Given the description of an element on the screen output the (x, y) to click on. 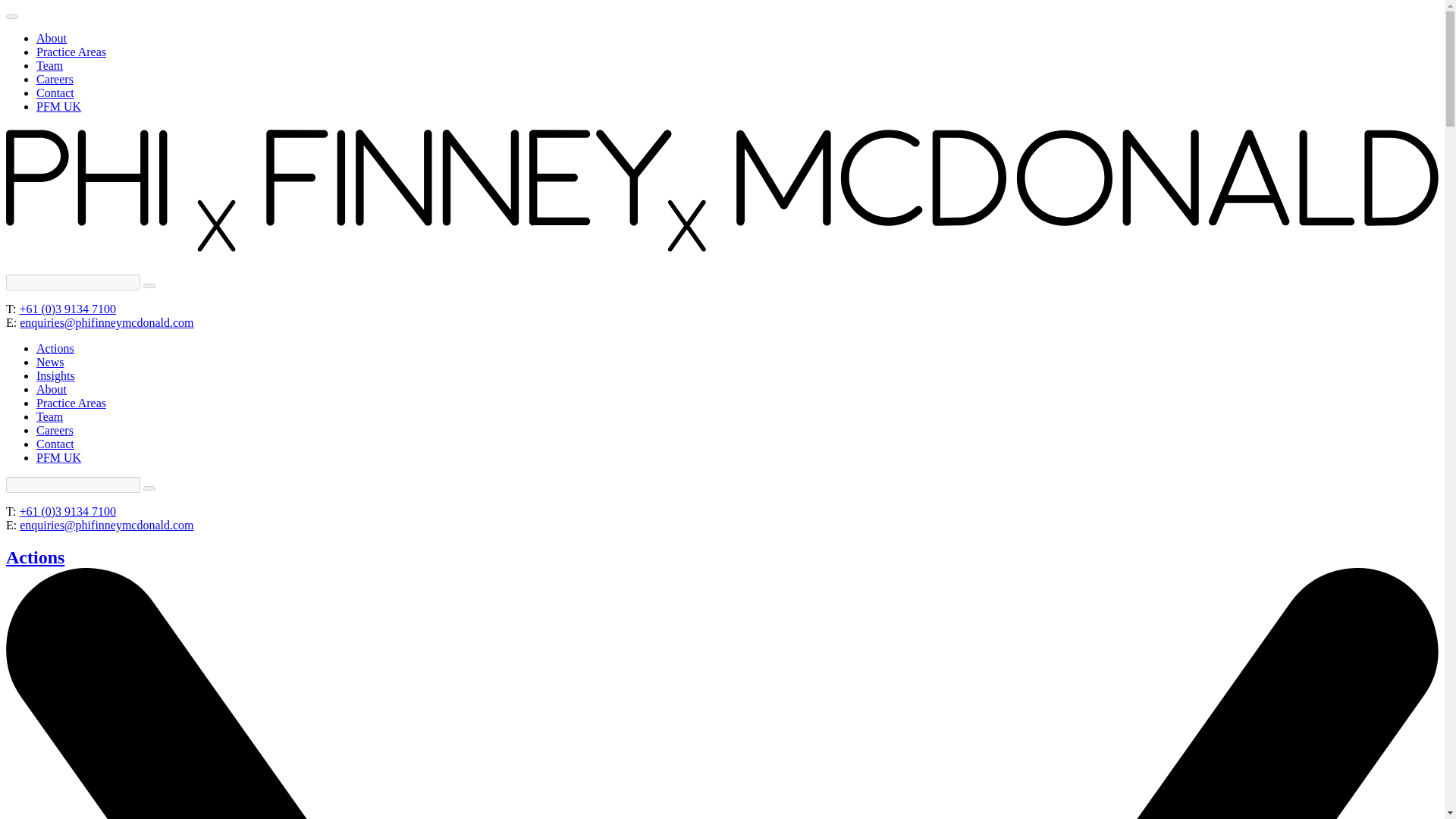
About (51, 38)
Team (49, 416)
Contact (55, 92)
Actions (55, 348)
Team (49, 65)
Insights (55, 375)
Actions (34, 557)
News (50, 361)
Careers (55, 78)
Careers (55, 430)
PFM UK (58, 106)
About (51, 389)
Practice Areas (71, 402)
Contact (55, 443)
PFM UK (58, 457)
